Given the description of an element on the screen output the (x, y) to click on. 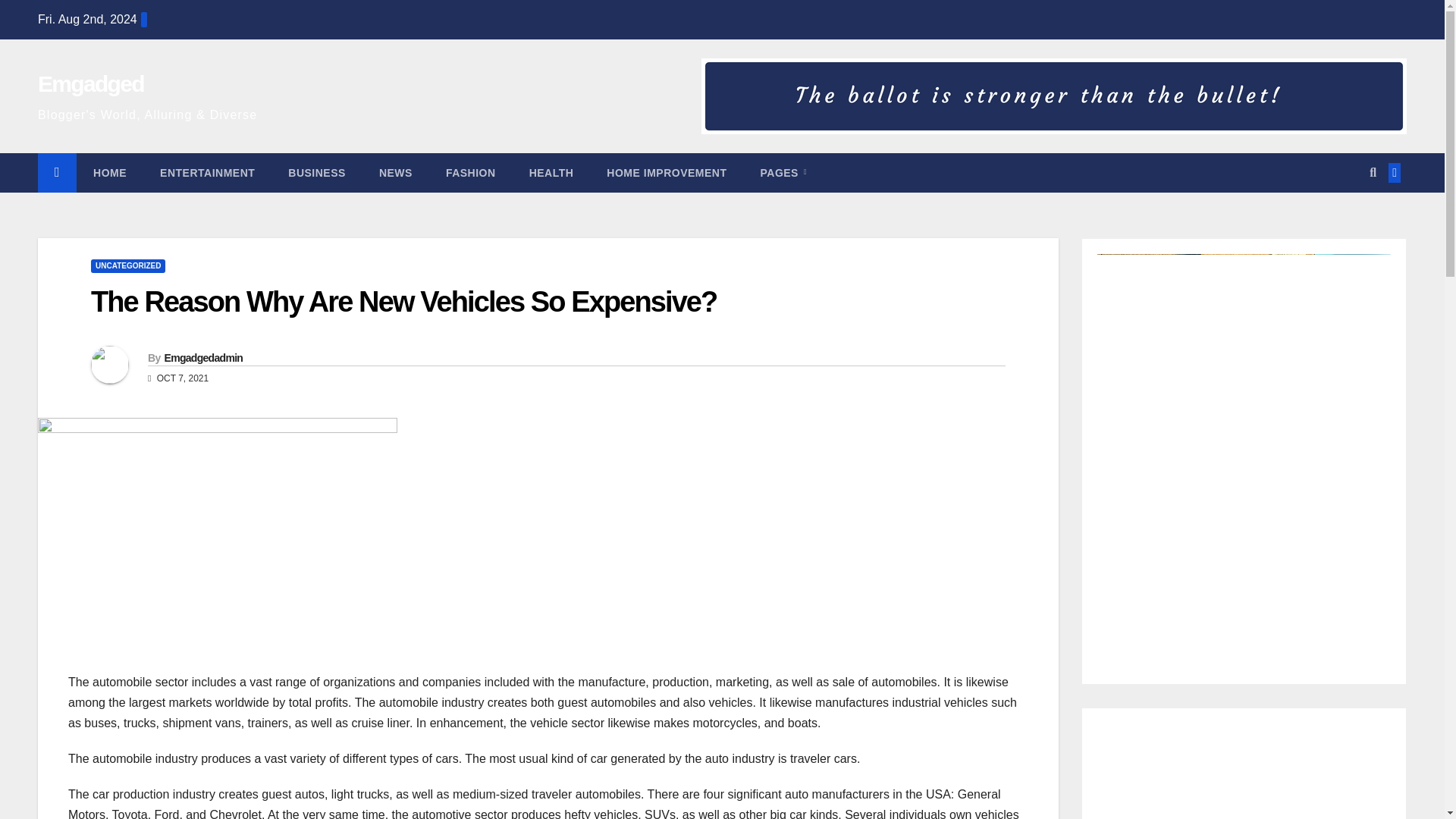
News (395, 172)
Business (316, 172)
ENTERTAINMENT (206, 172)
NEWS (395, 172)
BUSINESS (316, 172)
Entertainment (206, 172)
Health (551, 172)
Emgadged (90, 83)
HOME IMPROVEMENT (665, 172)
The Reason Why Are New Vehicles So Expensive? (403, 301)
